Given the description of an element on the screen output the (x, y) to click on. 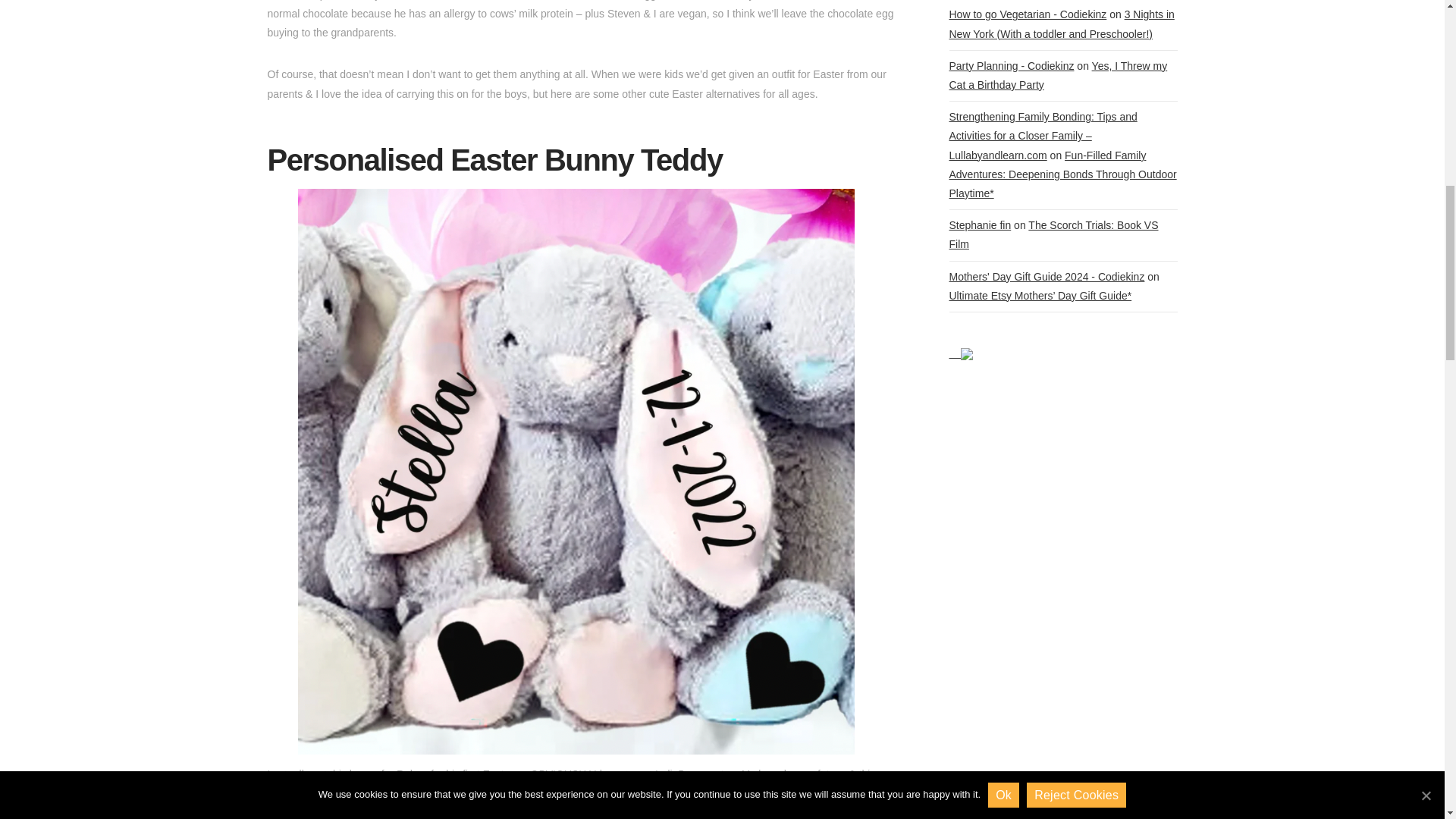
Personalised Easter Bunny Teddy (494, 159)
